Given the description of an element on the screen output the (x, y) to click on. 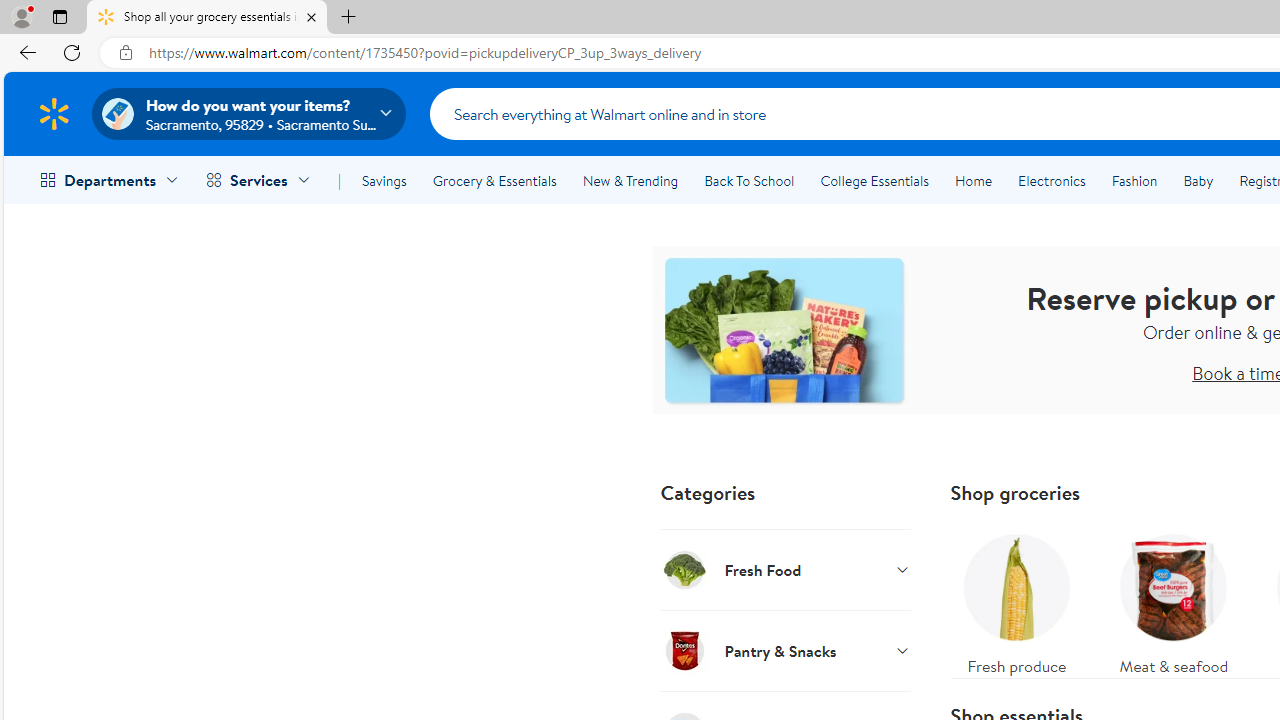
Shop all your grocery essentials in one place! - Walmart.com (207, 17)
Fresh produce (1016, 599)
College Essentials (874, 180)
Meat & seafood (1173, 599)
Baby (1197, 180)
Electronics (1051, 180)
Grocery & Essentials (493, 180)
